Given the description of an element on the screen output the (x, y) to click on. 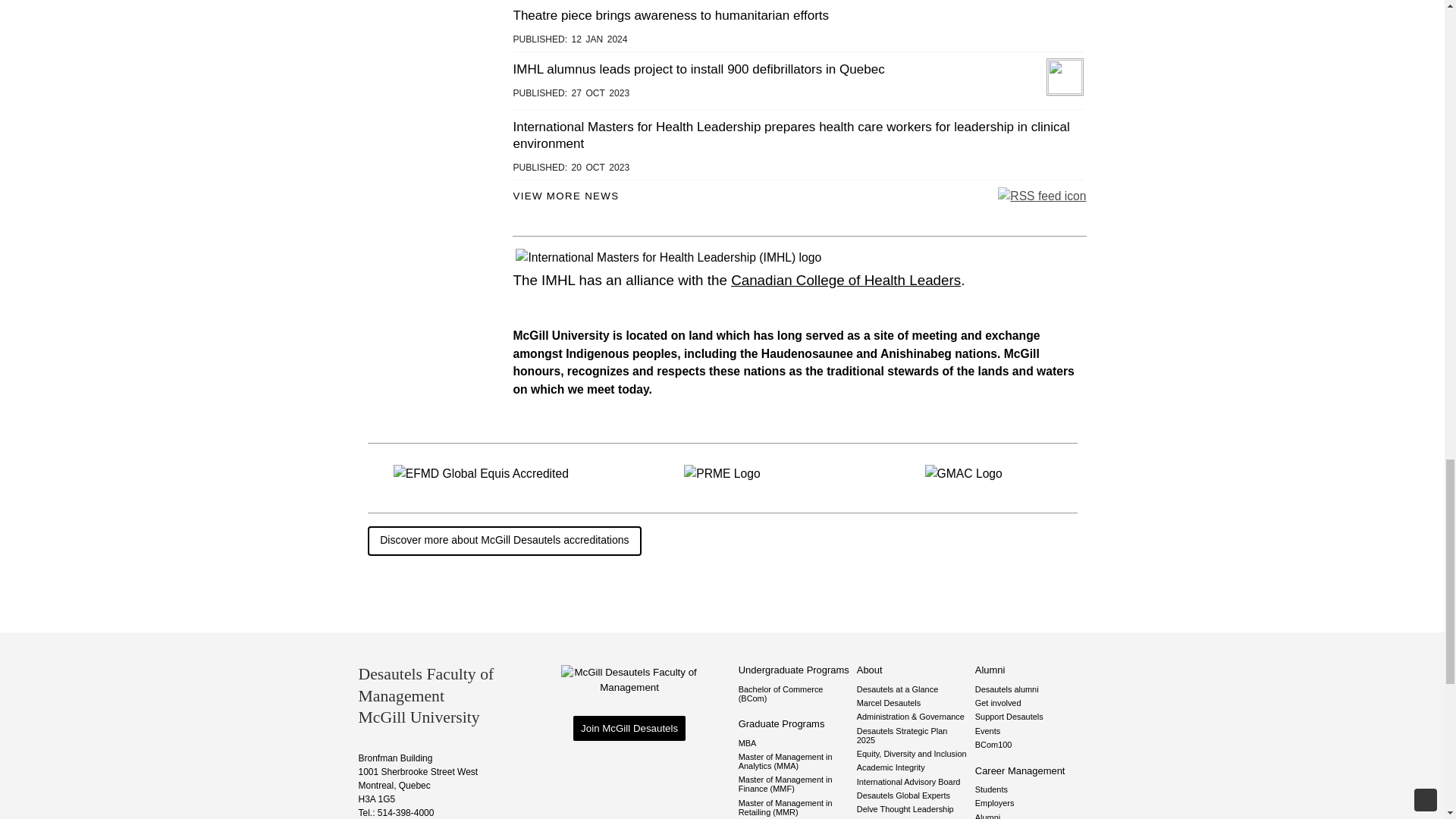
EQUIS Accredited (481, 474)
PRIME (722, 474)
McGill distributed content RSS feed (1041, 195)
GMAC (963, 474)
McGill distributed content (565, 195)
